Given the description of an element on the screen output the (x, y) to click on. 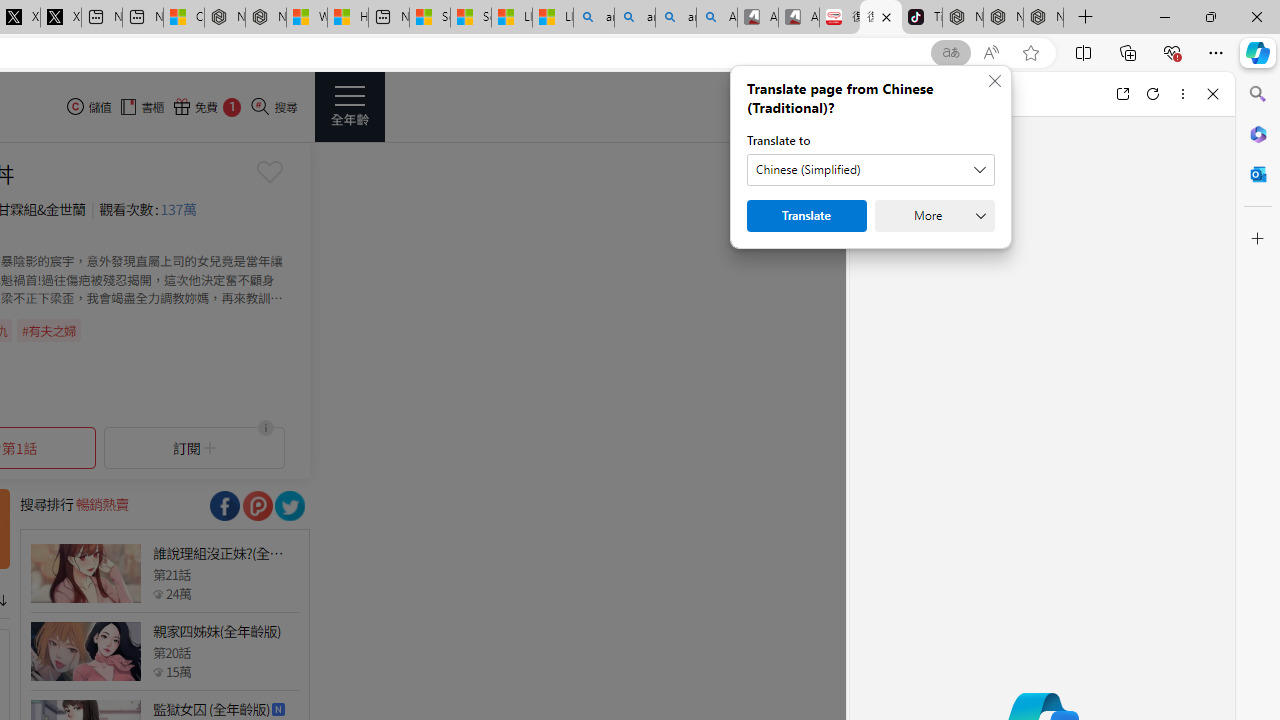
TikTok (922, 17)
More (934, 215)
Outlook (1258, 174)
